Given the description of an element on the screen output the (x, y) to click on. 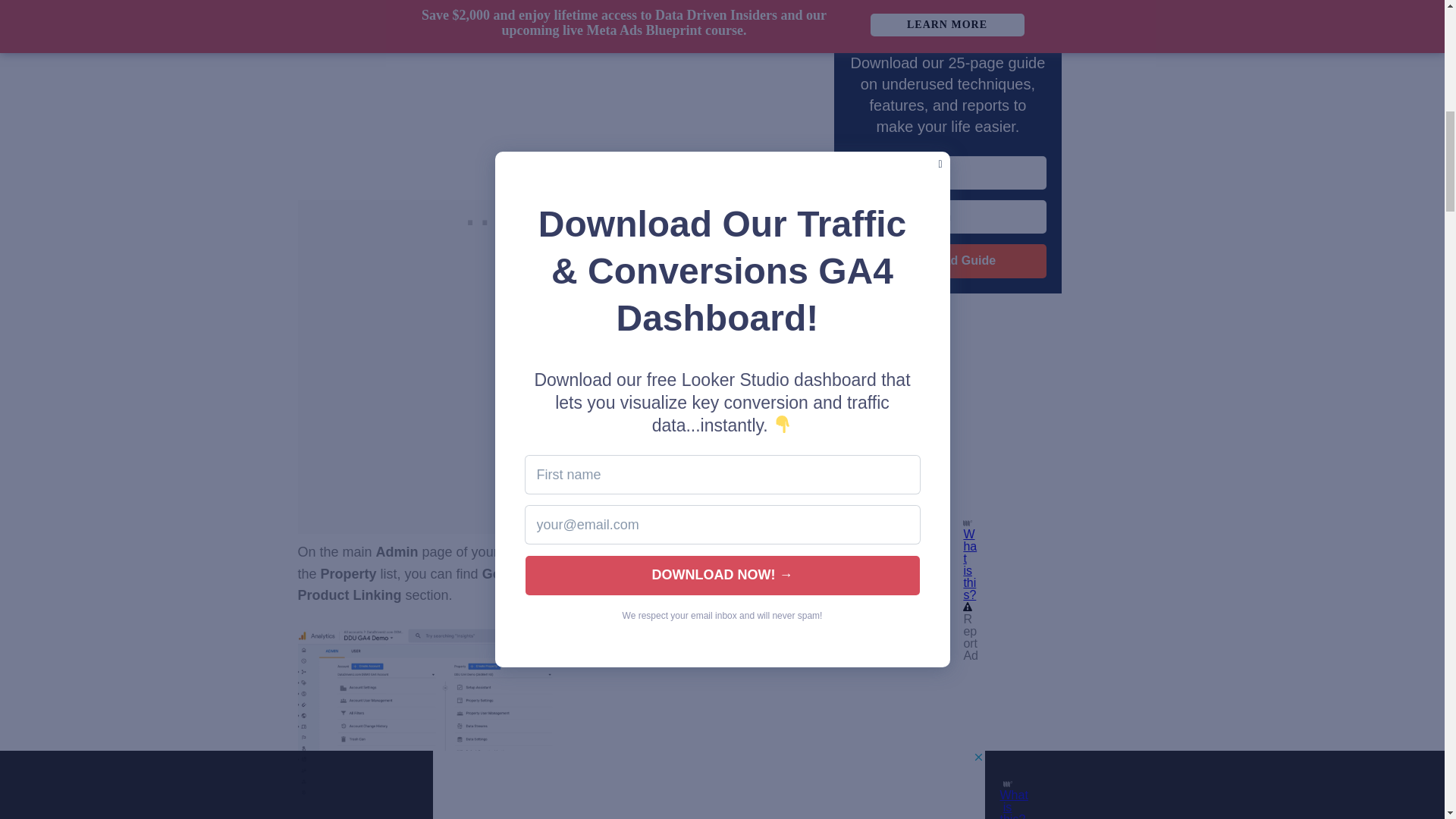
3rd party ad content (485, 218)
3rd party ad content (864, 421)
